Given the description of an element on the screen output the (x, y) to click on. 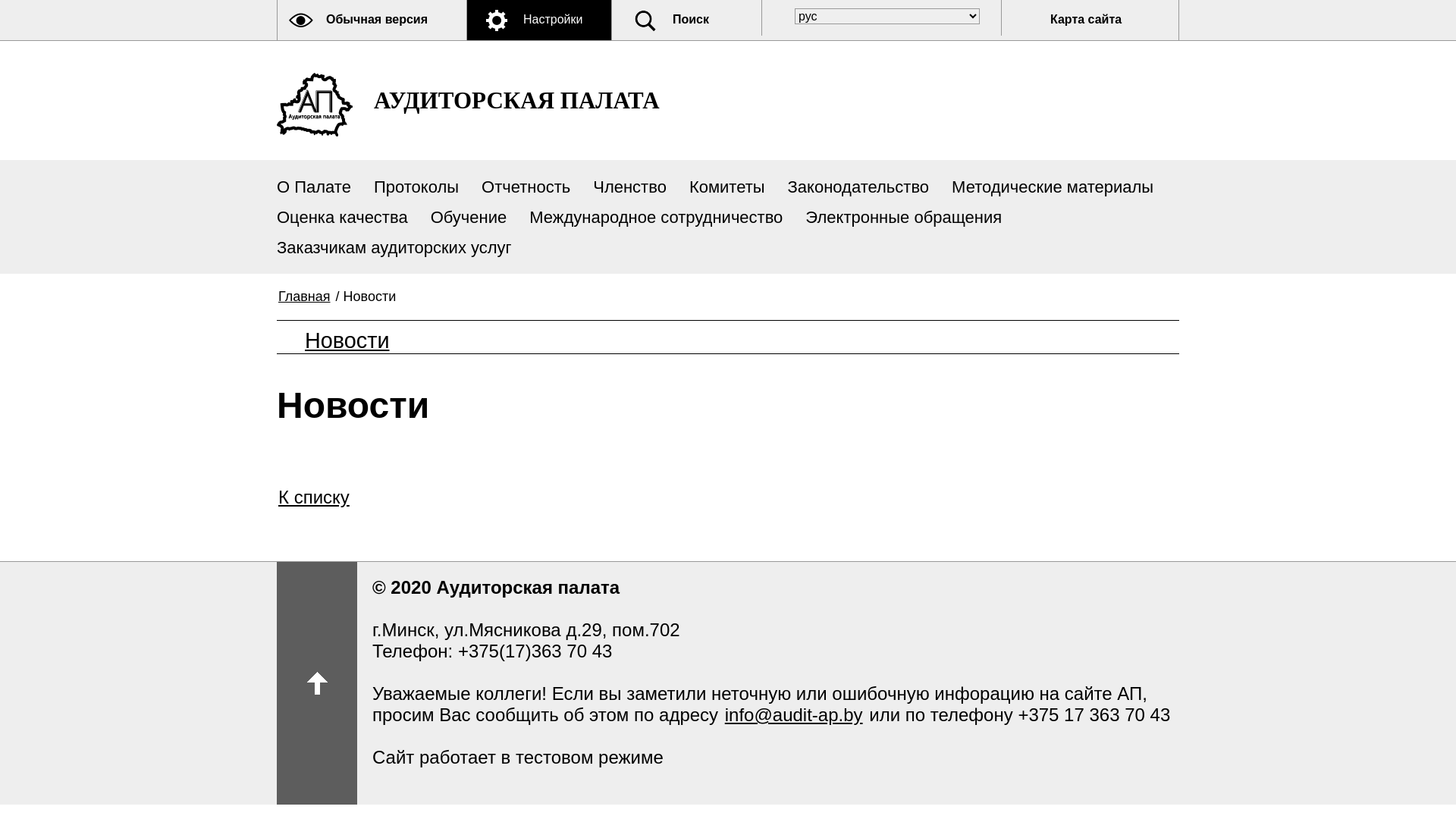
info@audit-ap.by Element type: text (793, 714)
